Given the description of an element on the screen output the (x, y) to click on. 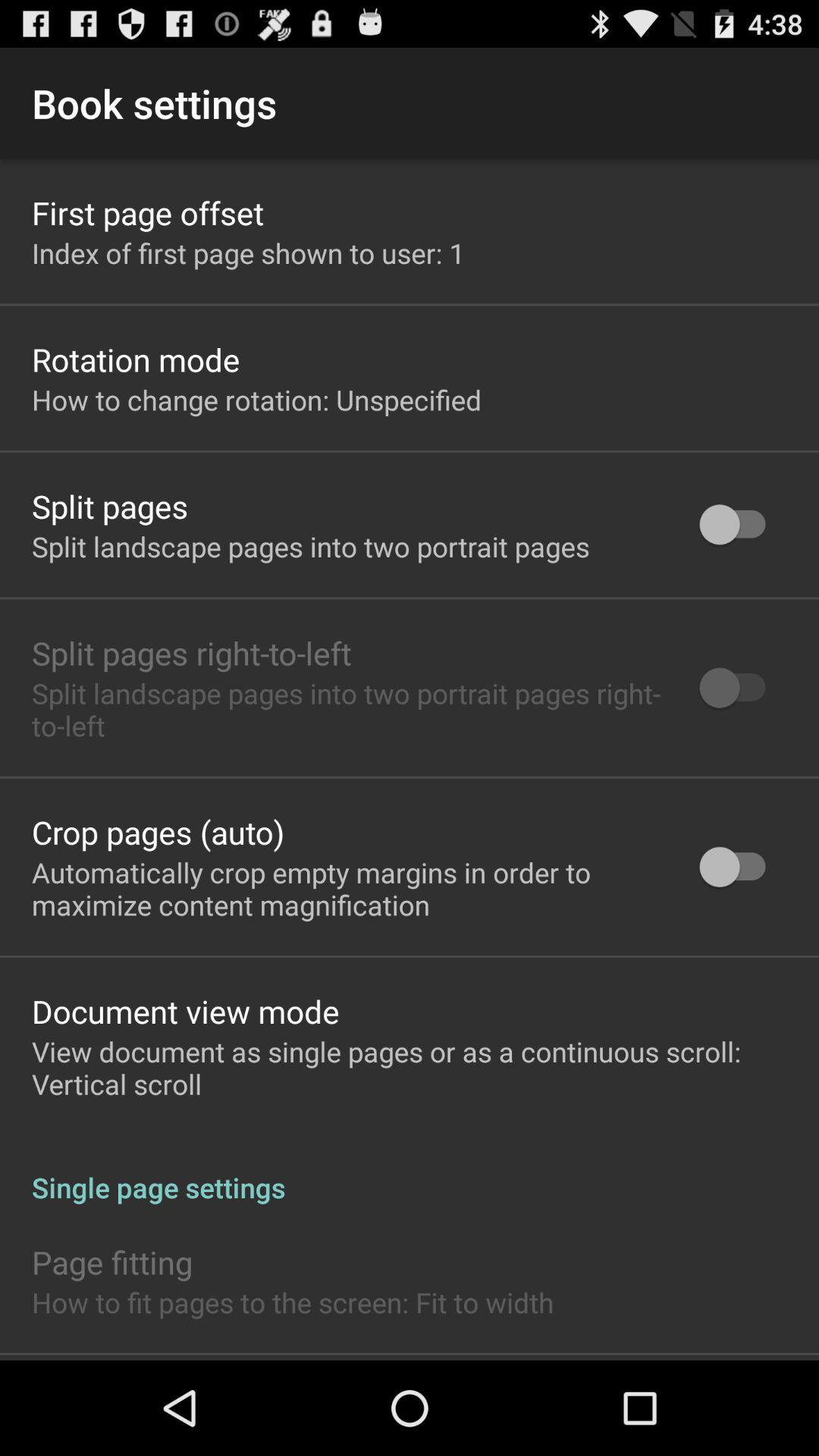
choose page fitting item (111, 1261)
